Given the description of an element on the screen output the (x, y) to click on. 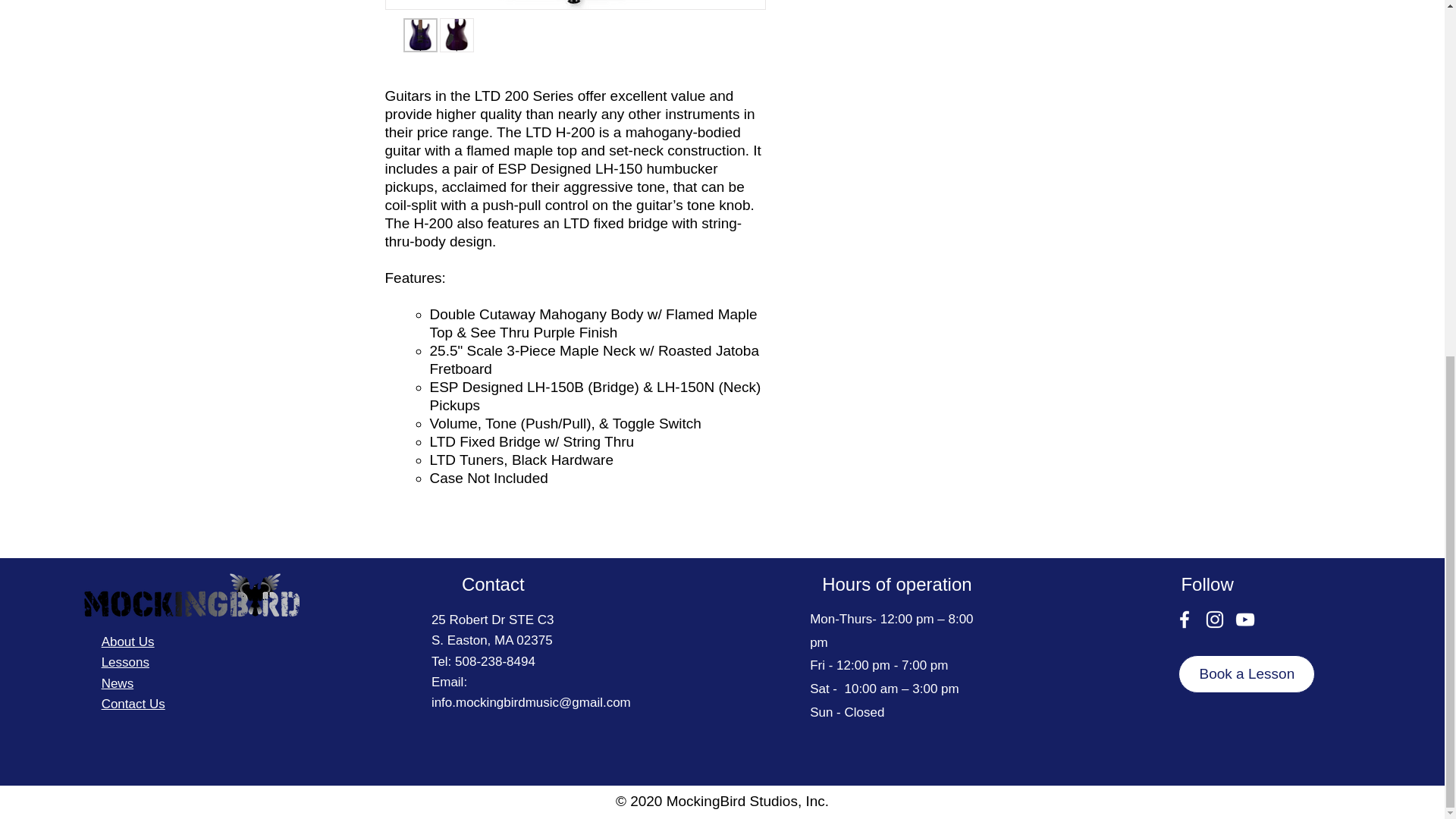
logo.webp (189, 594)
About Us (127, 641)
News (117, 683)
Lessons (125, 662)
Contact Us (133, 703)
Book a Lesson (1245, 673)
